Given the description of an element on the screen output the (x, y) to click on. 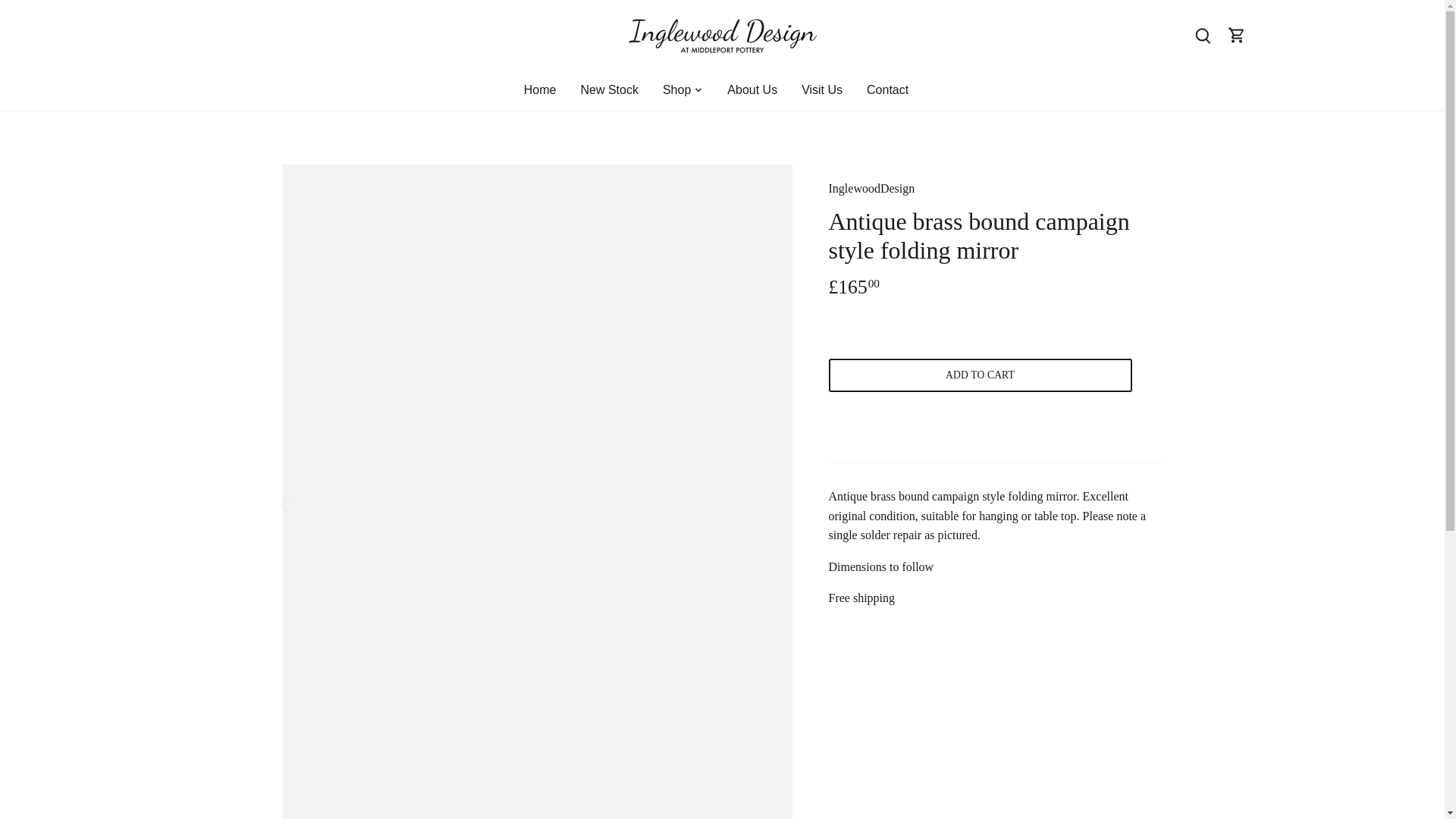
Visit Us (821, 89)
Contact (887, 89)
Home (546, 89)
New Stock (608, 89)
Shop (676, 89)
About Us (751, 89)
InglewoodDesign (871, 187)
